Given the description of an element on the screen output the (x, y) to click on. 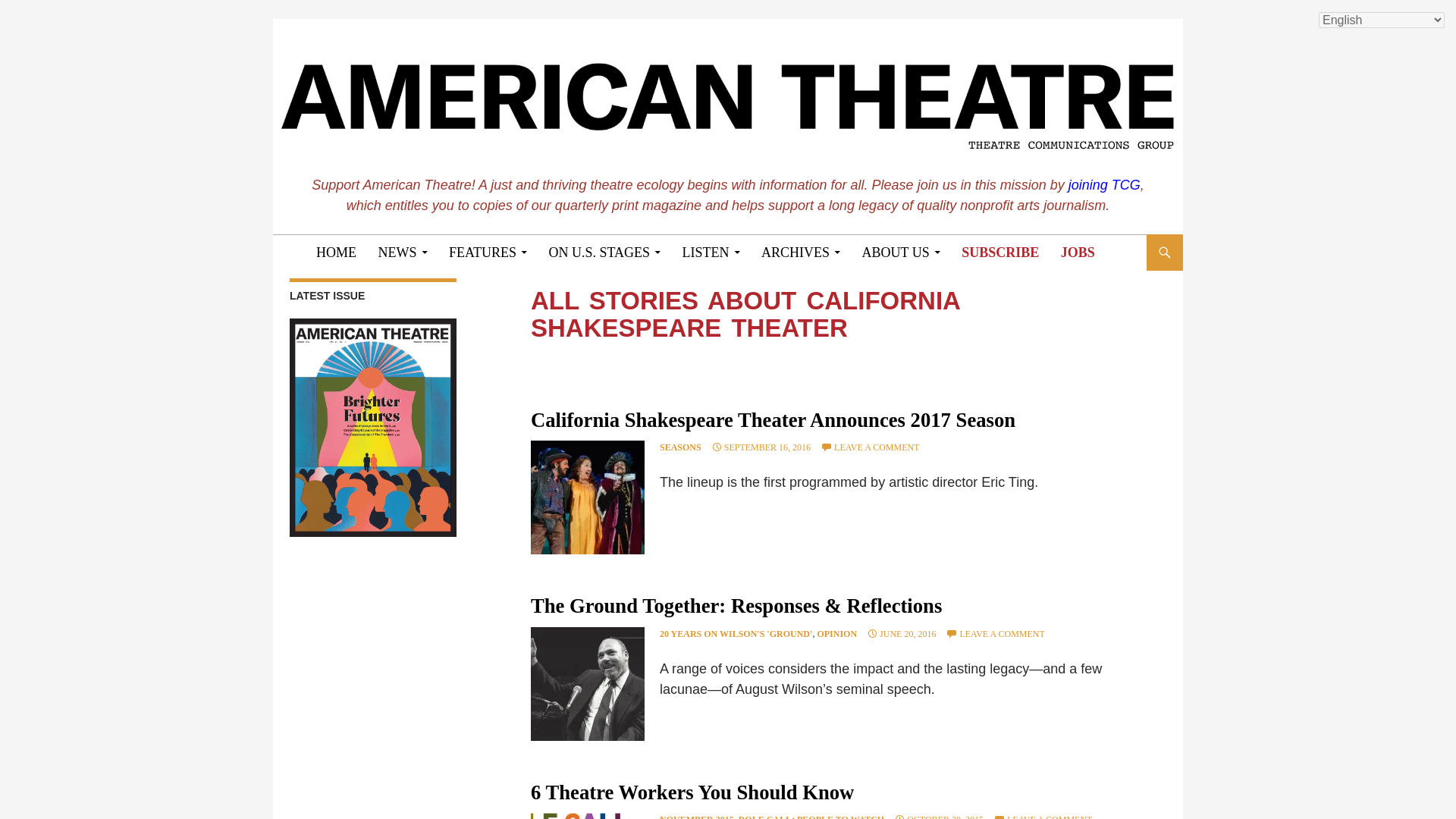
California Shakespeare Theater Announces 2017 Season (588, 497)
California Shakespeare Theater Announces 2017 Season (772, 419)
FEATURES (487, 252)
SUBSCRIBE (1000, 252)
ARCHIVES (800, 252)
ON U.S. STAGES (604, 252)
joining TCG (1104, 184)
ABOUT US (901, 252)
6 Theatre Workers You Should Know (588, 816)
View all posts in 20 Years on Wilson's 'Ground' (735, 633)
HOME (336, 252)
View all posts in November 2015 (696, 816)
